Given the description of an element on the screen output the (x, y) to click on. 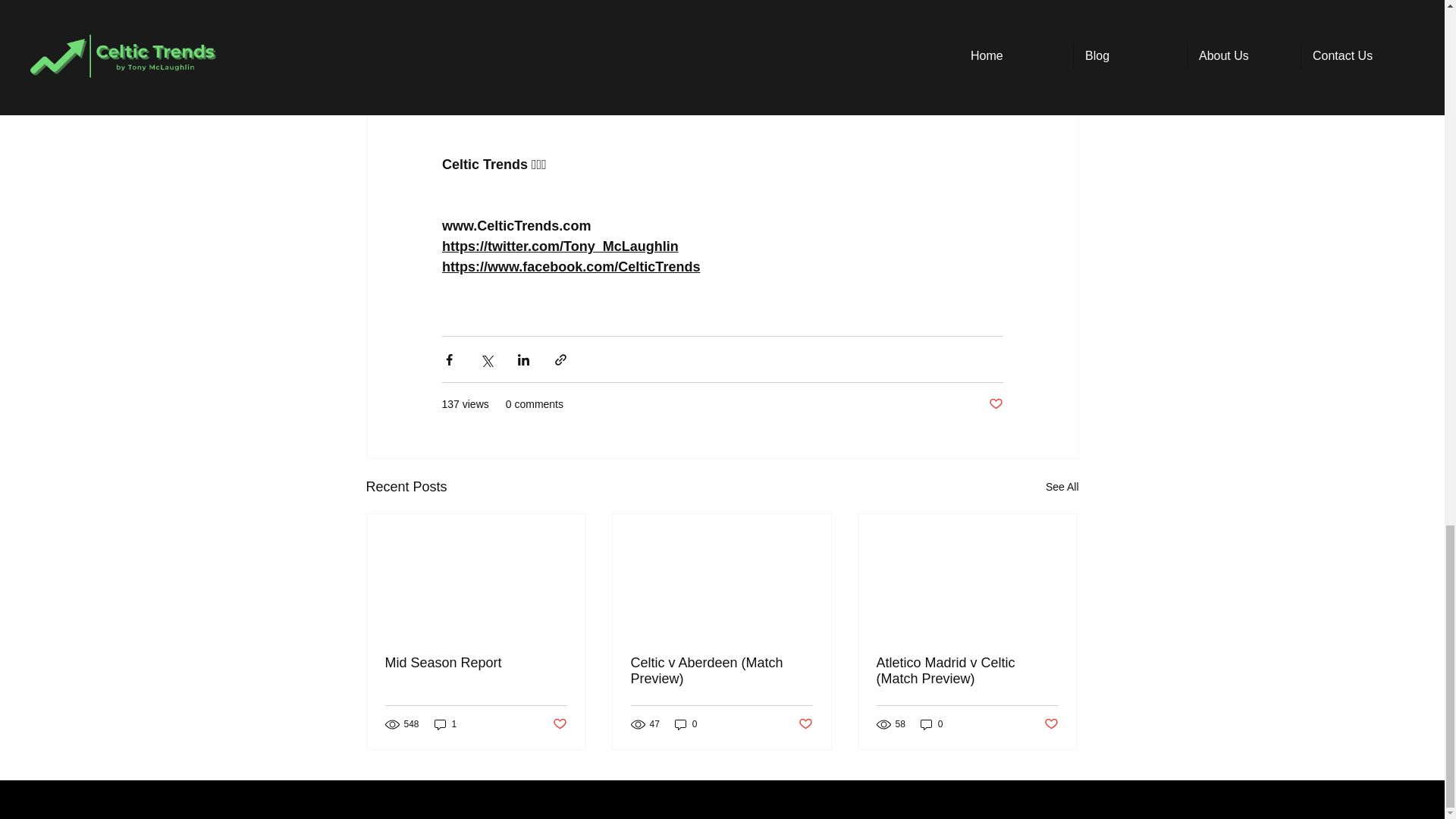
See All (1061, 486)
Post not marked as liked (995, 404)
0 (685, 724)
Post not marked as liked (558, 724)
Post not marked as liked (1050, 724)
Mid Season Report (476, 662)
Post not marked as liked (804, 724)
0 (931, 724)
1 (445, 724)
